Given the description of an element on the screen output the (x, y) to click on. 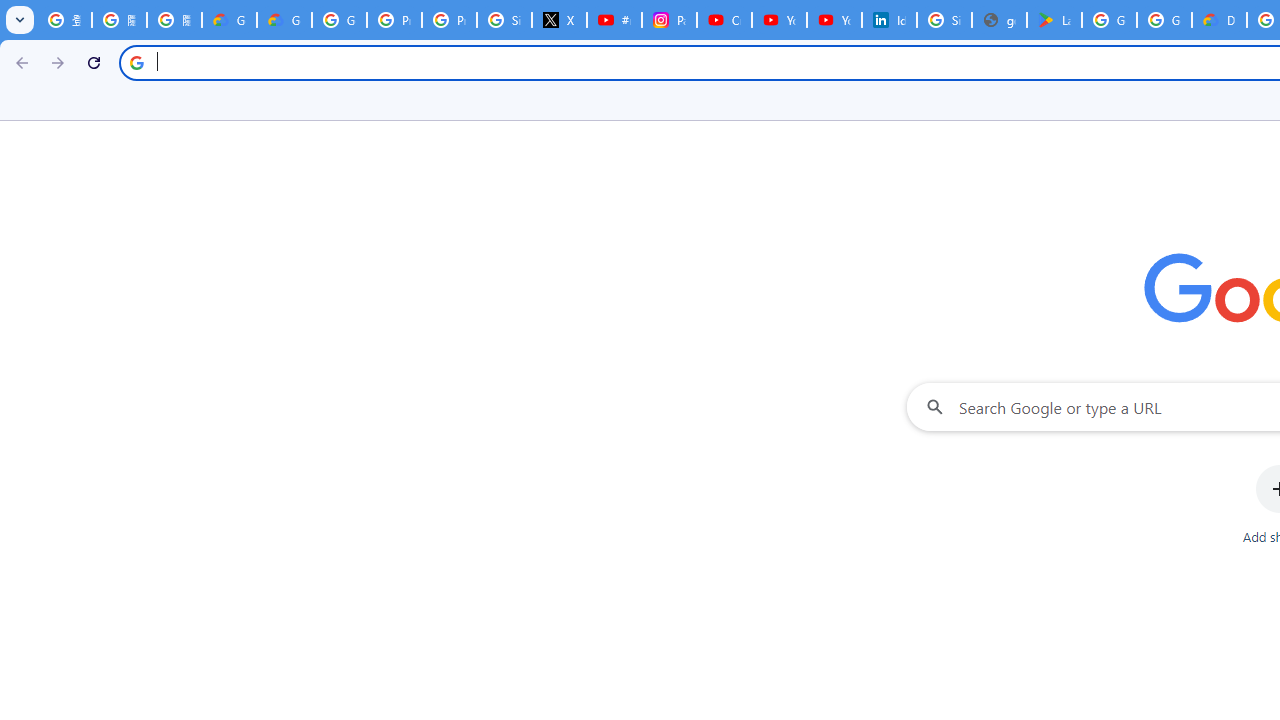
Search icon (136, 62)
Last Shelter: Survival - Apps on Google Play (1053, 20)
google_privacy_policy_en.pdf (998, 20)
Identity verification via Persona | LinkedIn Help (888, 20)
Google Cloud Privacy Notice (229, 20)
